Given the description of an element on the screen output the (x, y) to click on. 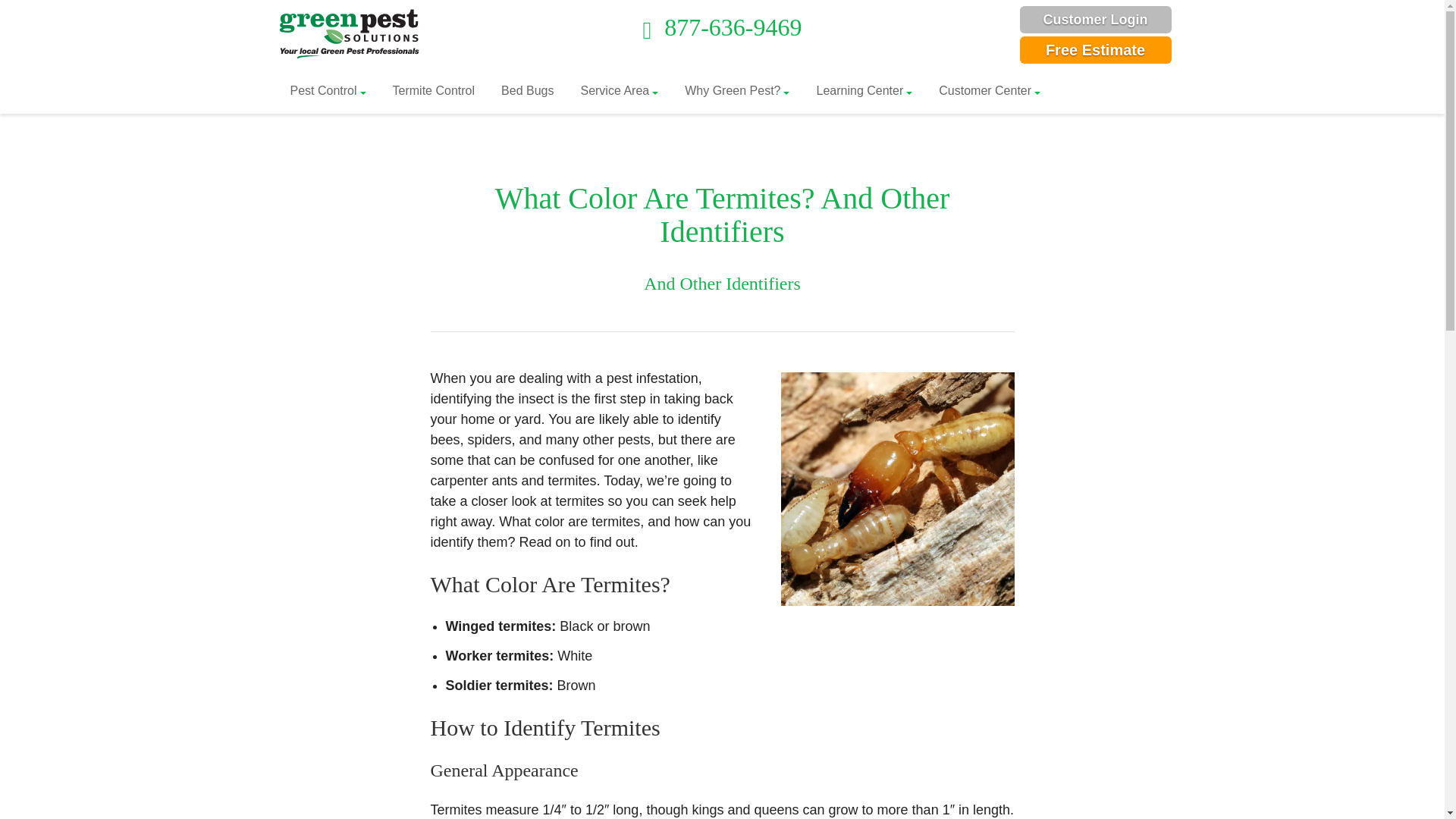
Bed Bugs (526, 90)
877-636-9469 (722, 26)
Free Estimate (1094, 49)
Customer Login (1094, 19)
Service Area (618, 90)
Pest Control (327, 90)
Termite Control (433, 90)
Why Green Pest? (736, 90)
